Given the description of an element on the screen output the (x, y) to click on. 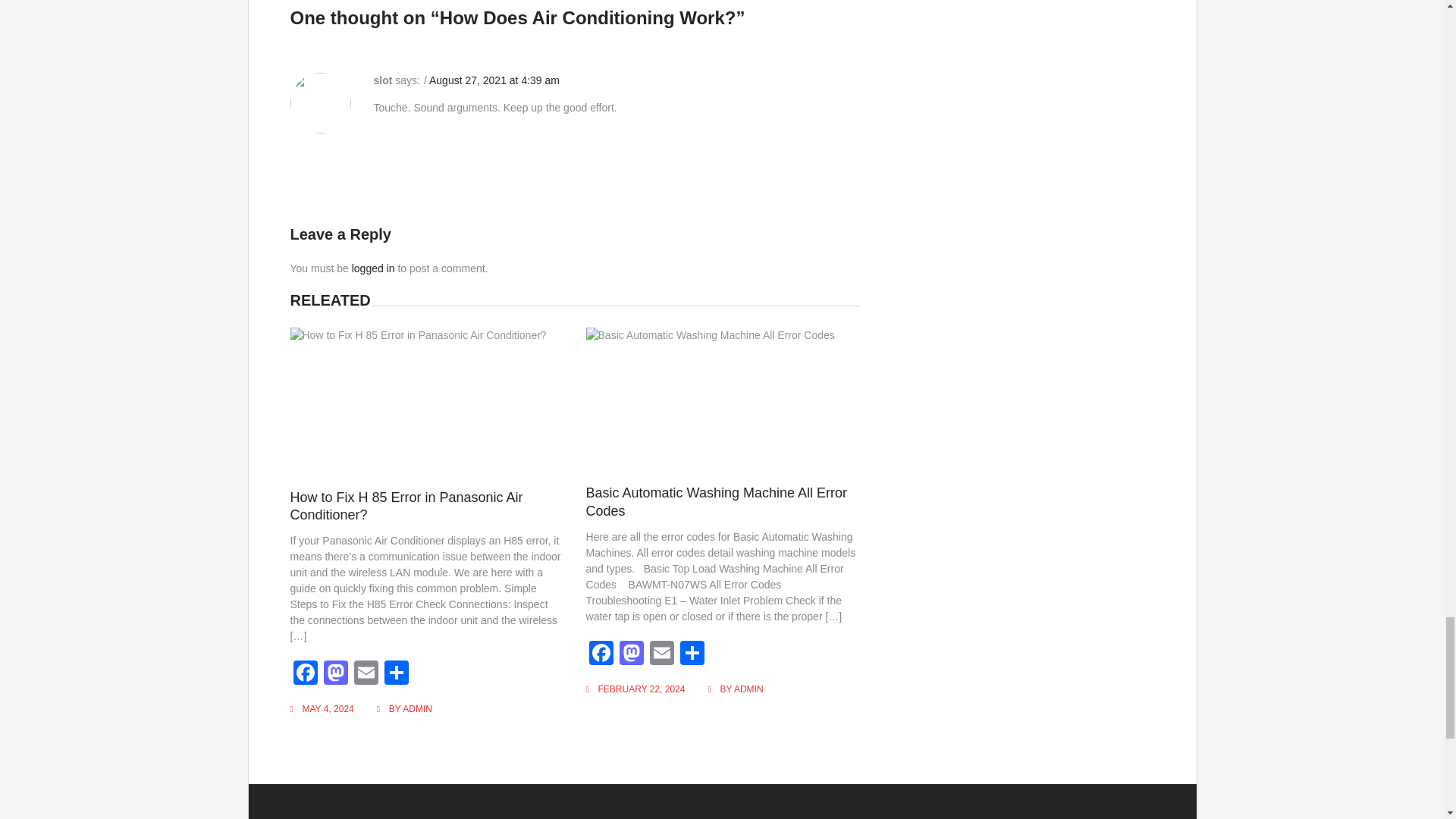
Mastodon (335, 674)
logged in (373, 268)
Facebook (304, 674)
August 27, 2021 at 4:39 am (494, 80)
Email (365, 674)
How to Fix H 85 Error in Panasonic Air Conditioner? (405, 505)
Facebook (304, 674)
Mastodon (335, 674)
